Given the description of an element on the screen output the (x, y) to click on. 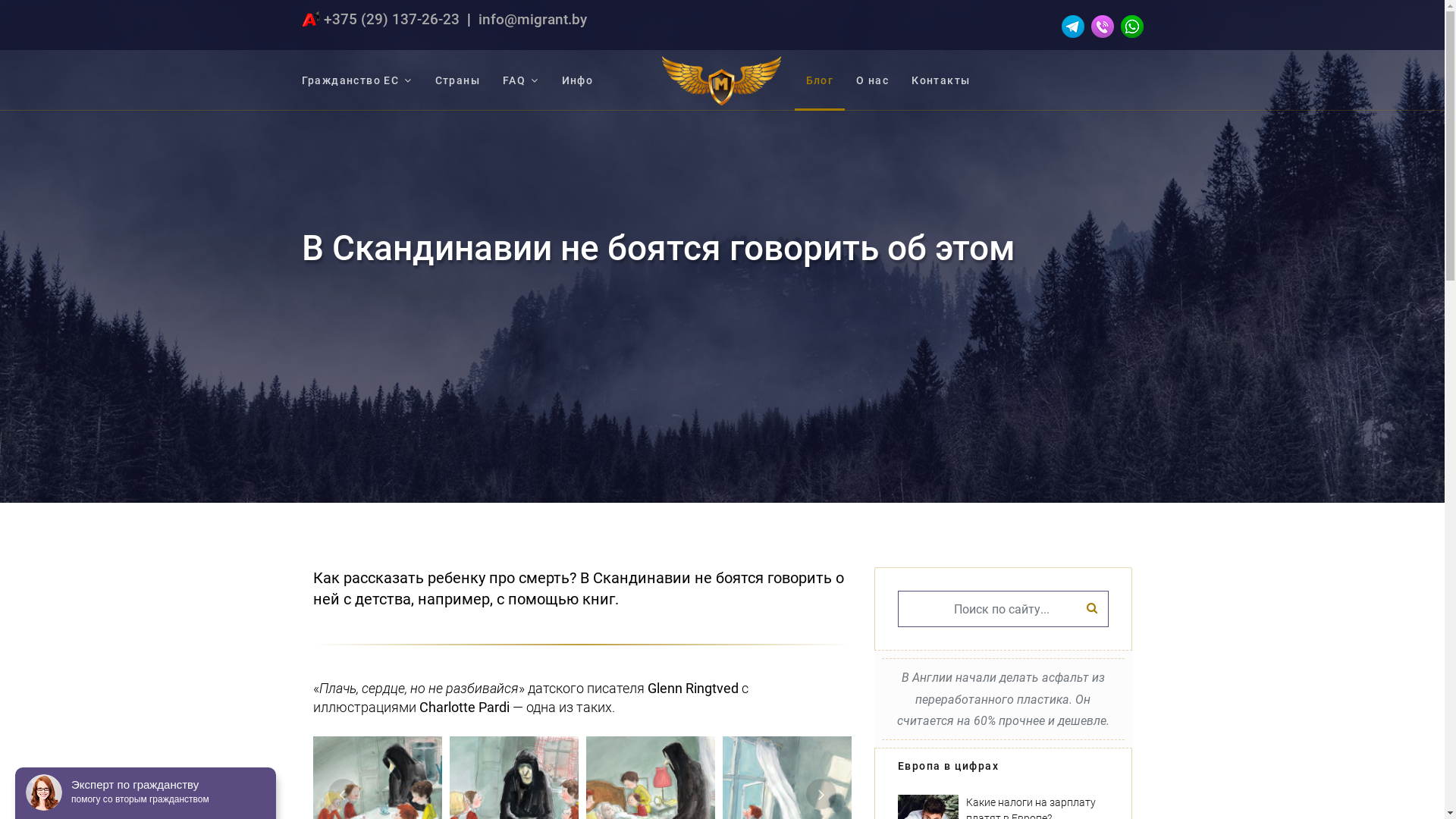
FAQ Element type: text (520, 80)
+375 (29) 137-26-23 Element type: text (390, 19)
info@migrant.by Element type: text (531, 19)
